Given the description of an element on the screen output the (x, y) to click on. 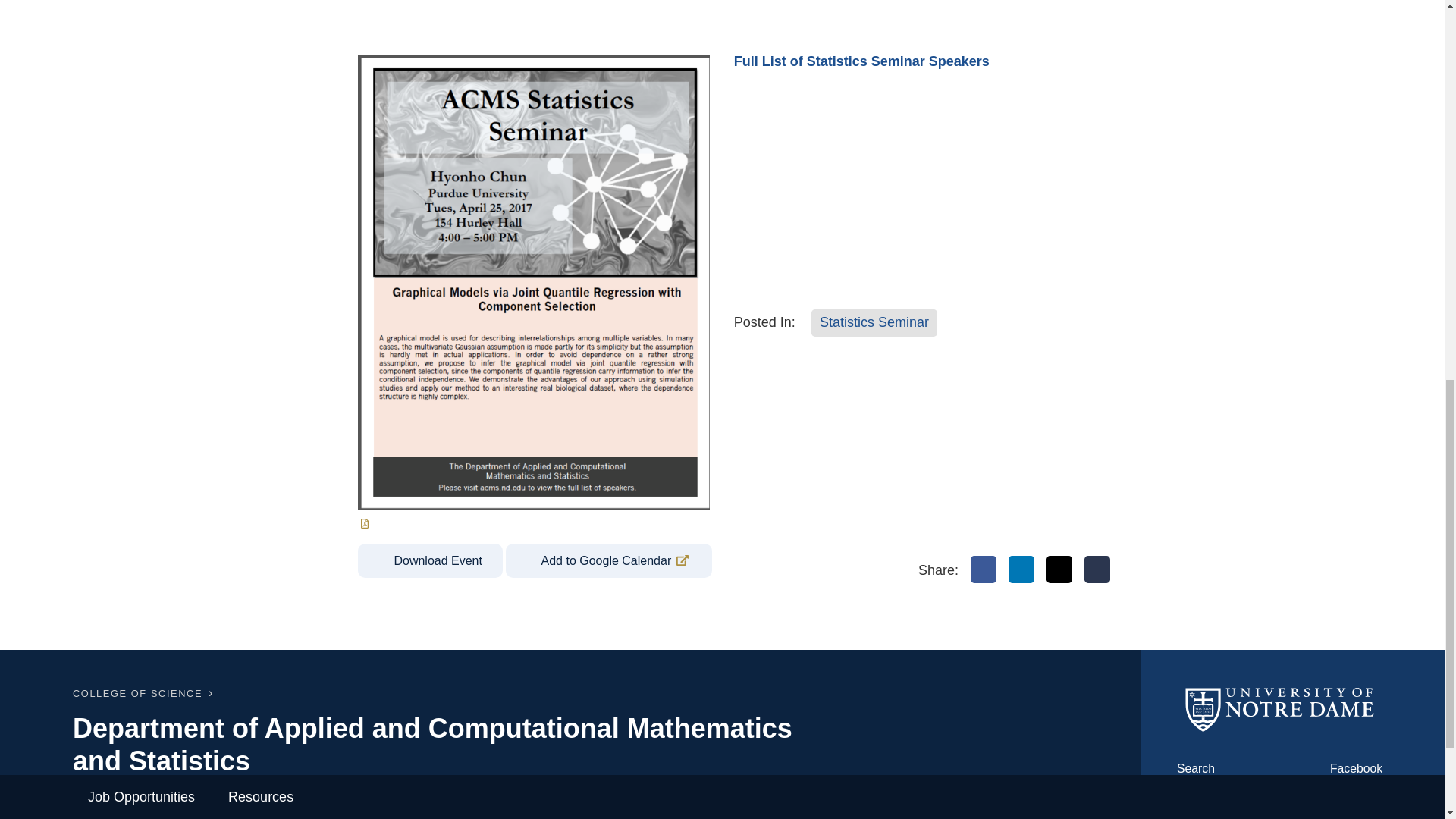
Facebook (983, 569)
Full List of Statistics Seminar Speakers (861, 61)
Add to Google Calendar (608, 560)
LinkedIn (1021, 569)
Email (1096, 569)
Statistics Seminar (873, 322)
Download Event (430, 560)
